Given the description of an element on the screen output the (x, y) to click on. 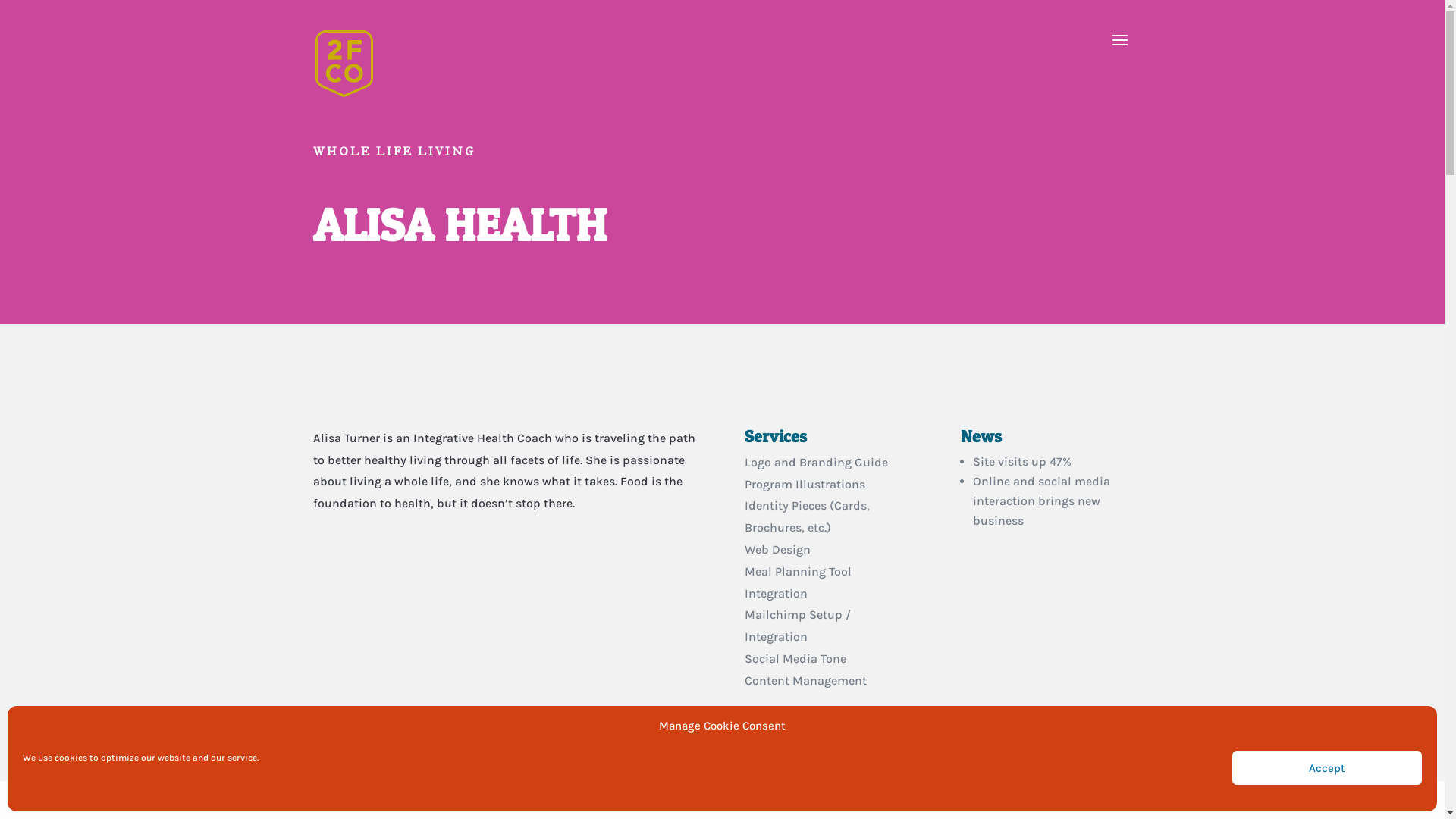
Accept Element type: text (1326, 767)
